Given the description of an element on the screen output the (x, y) to click on. 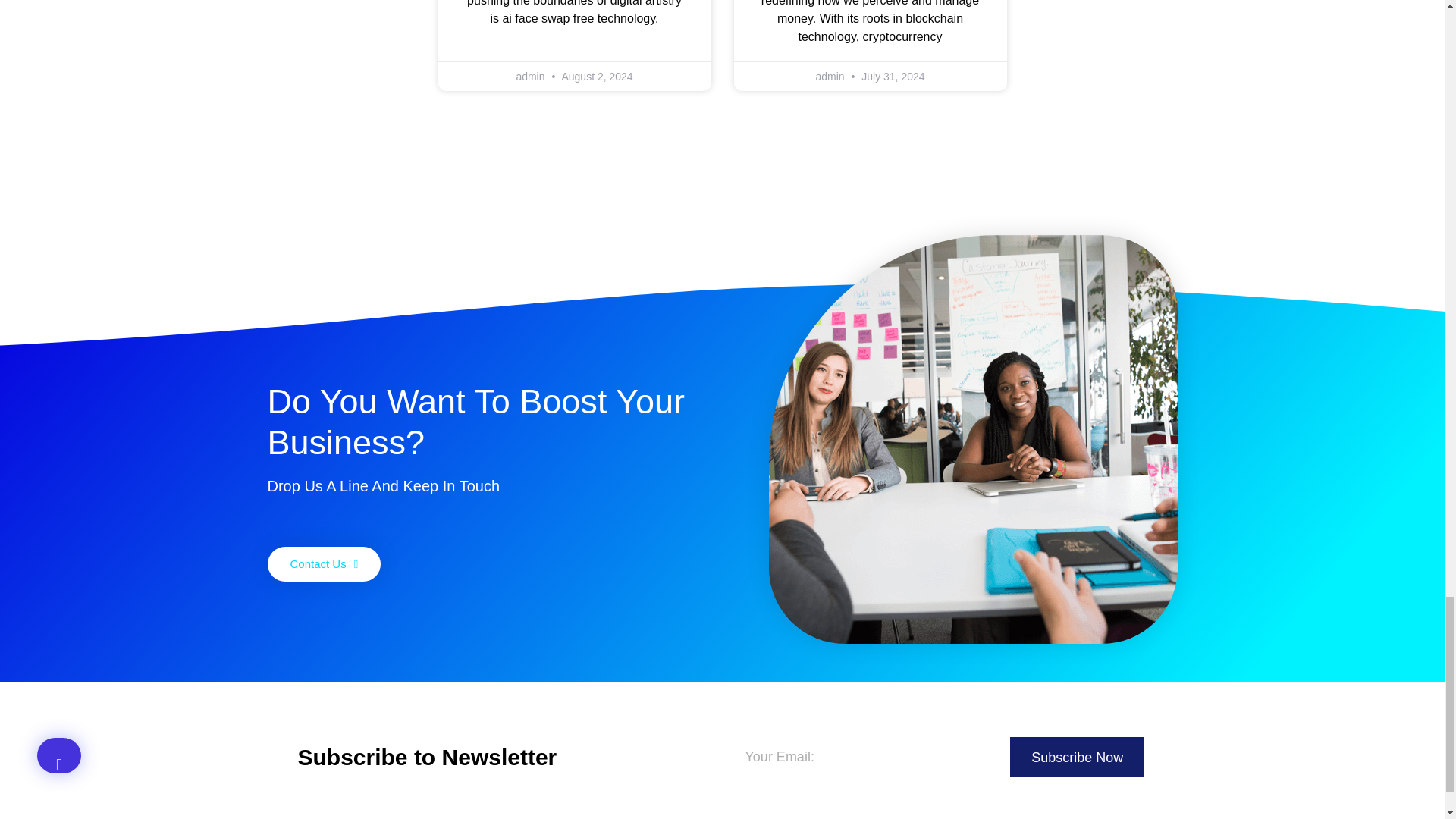
Contact Us (323, 564)
Subscribe Now (1077, 756)
